Given the description of an element on the screen output the (x, y) to click on. 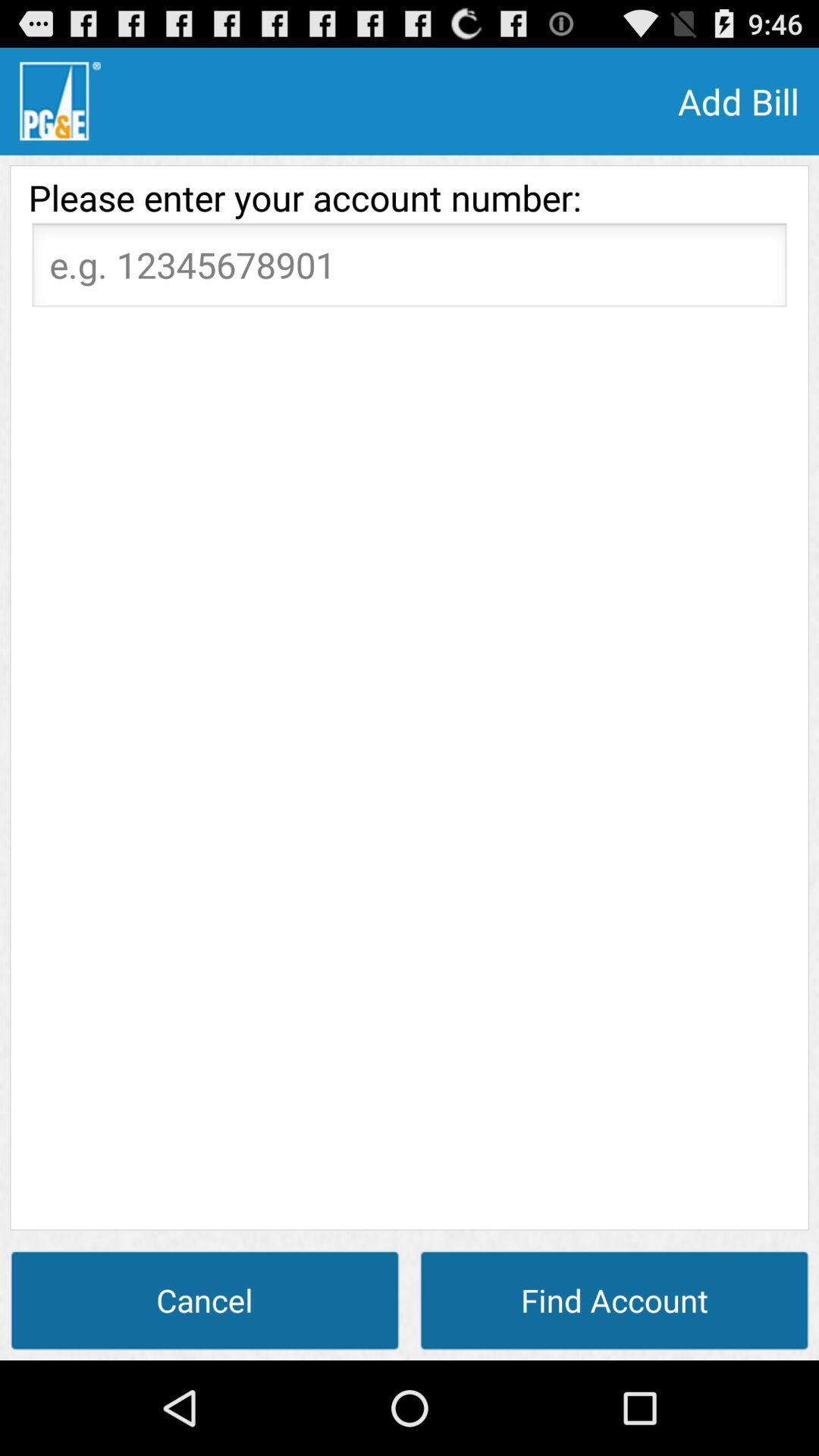
form input to enter account number (409, 269)
